Given the description of an element on the screen output the (x, y) to click on. 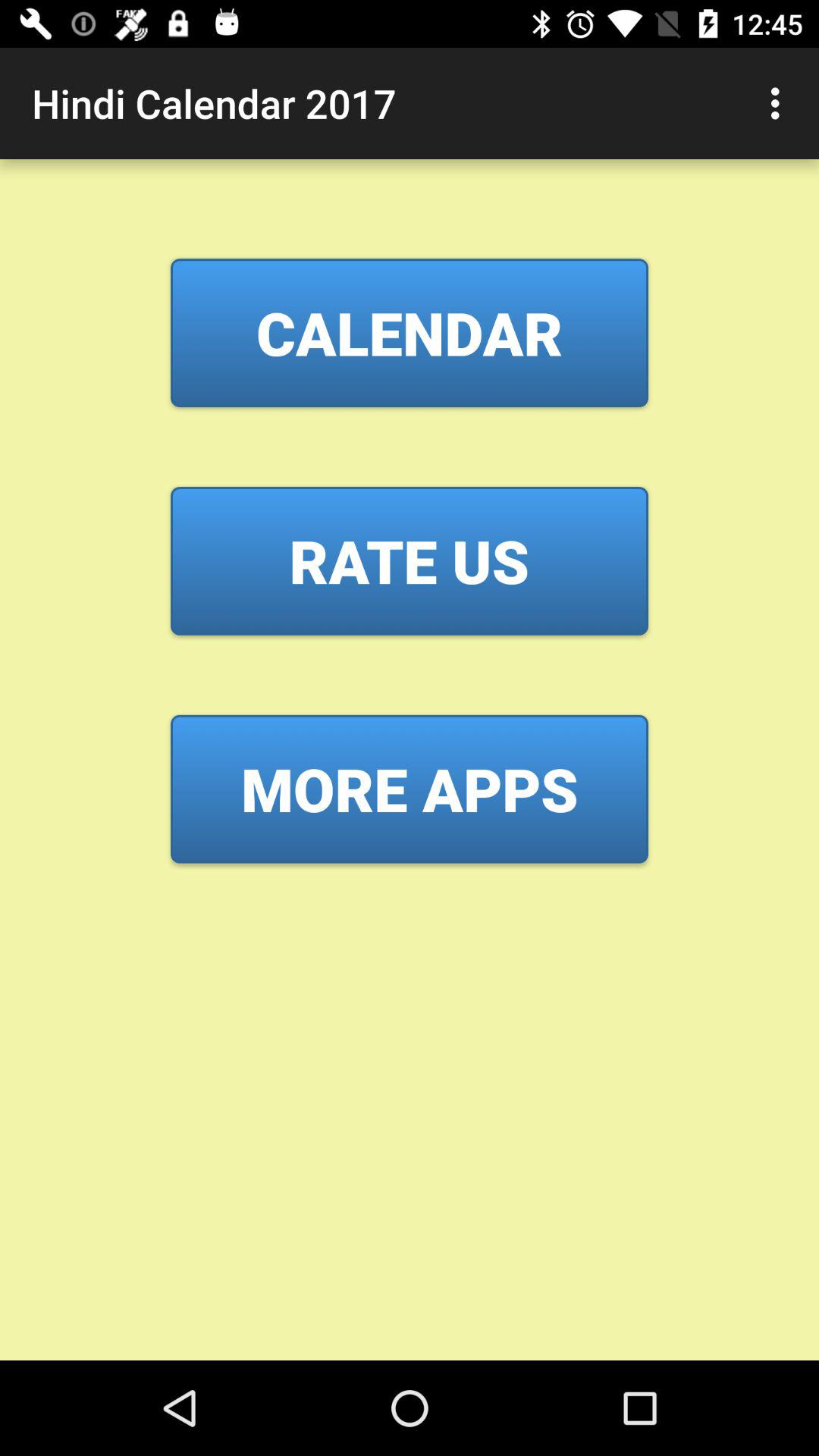
launch the rate us item (409, 560)
